Given the description of an element on the screen output the (x, y) to click on. 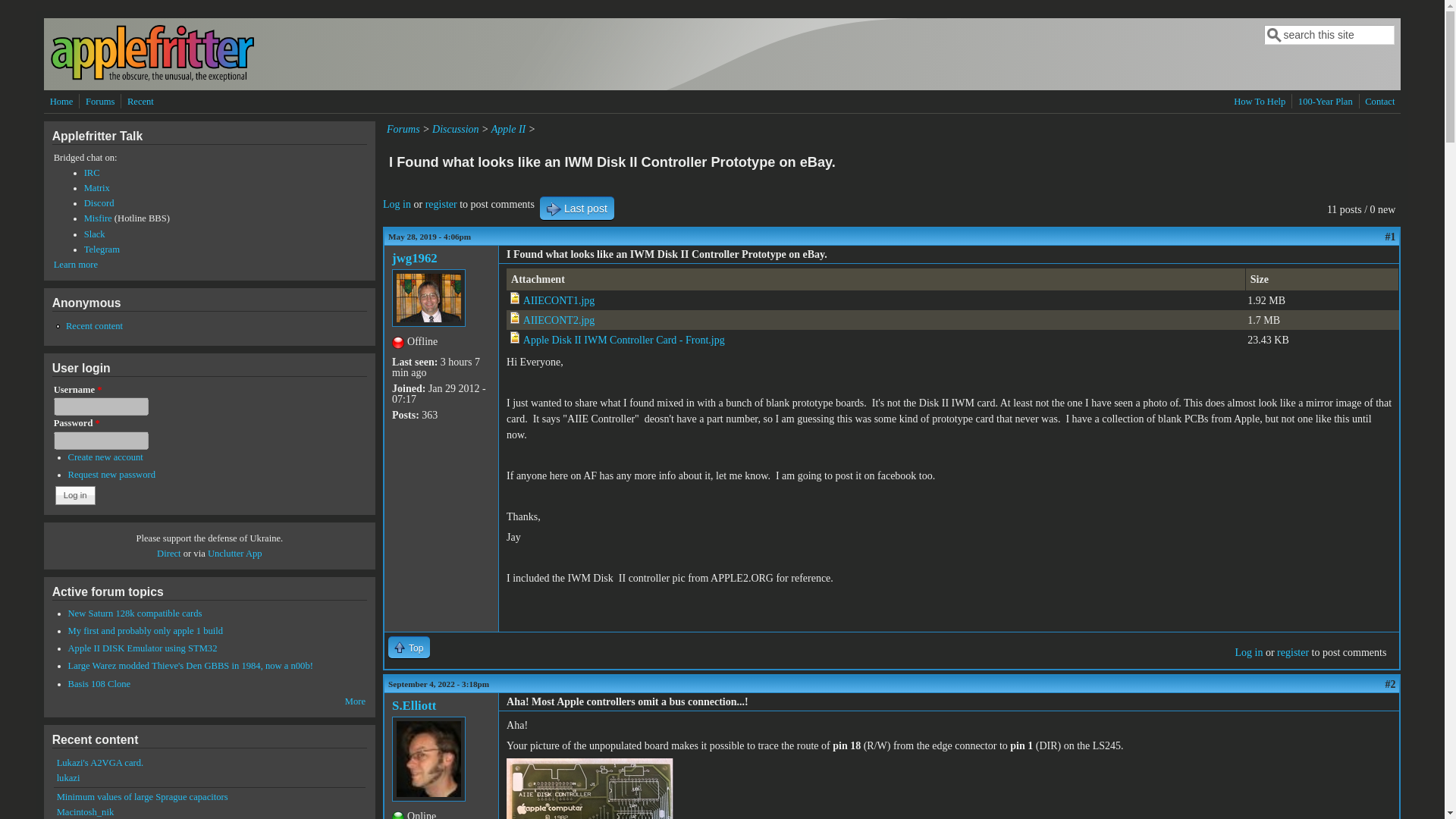
Forums (403, 129)
jwg1962 (414, 257)
View user profile. (414, 257)
jwg1962's picture (428, 297)
Discussion (455, 129)
Apple II (508, 129)
register (441, 204)
Last post (577, 208)
Apple Disk II IWM Controller Card - Front.jpg (623, 339)
Top (408, 647)
AIIECONT2.jpg (558, 319)
S.Elliott (413, 705)
100-Year Plan (1325, 101)
Recent (140, 101)
Jump to top of page (408, 647)
